Given the description of an element on the screen output the (x, y) to click on. 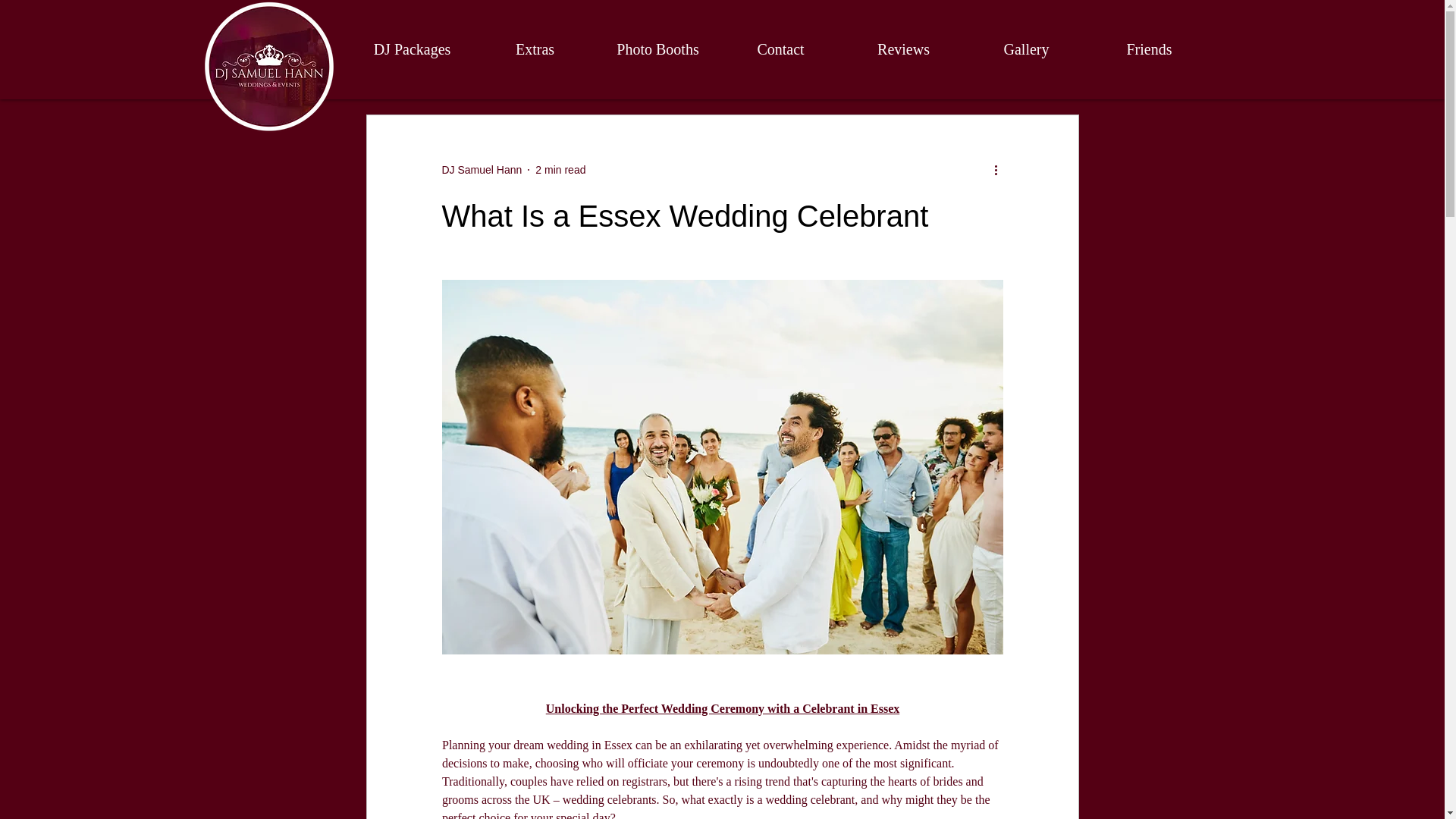
Contact (780, 48)
2 min read (560, 169)
DJ Samuel Hann (481, 170)
Reviews (902, 48)
DJ Samuel Hann (481, 170)
Gallery (1025, 48)
Friends (1148, 48)
